Given the description of an element on the screen output the (x, y) to click on. 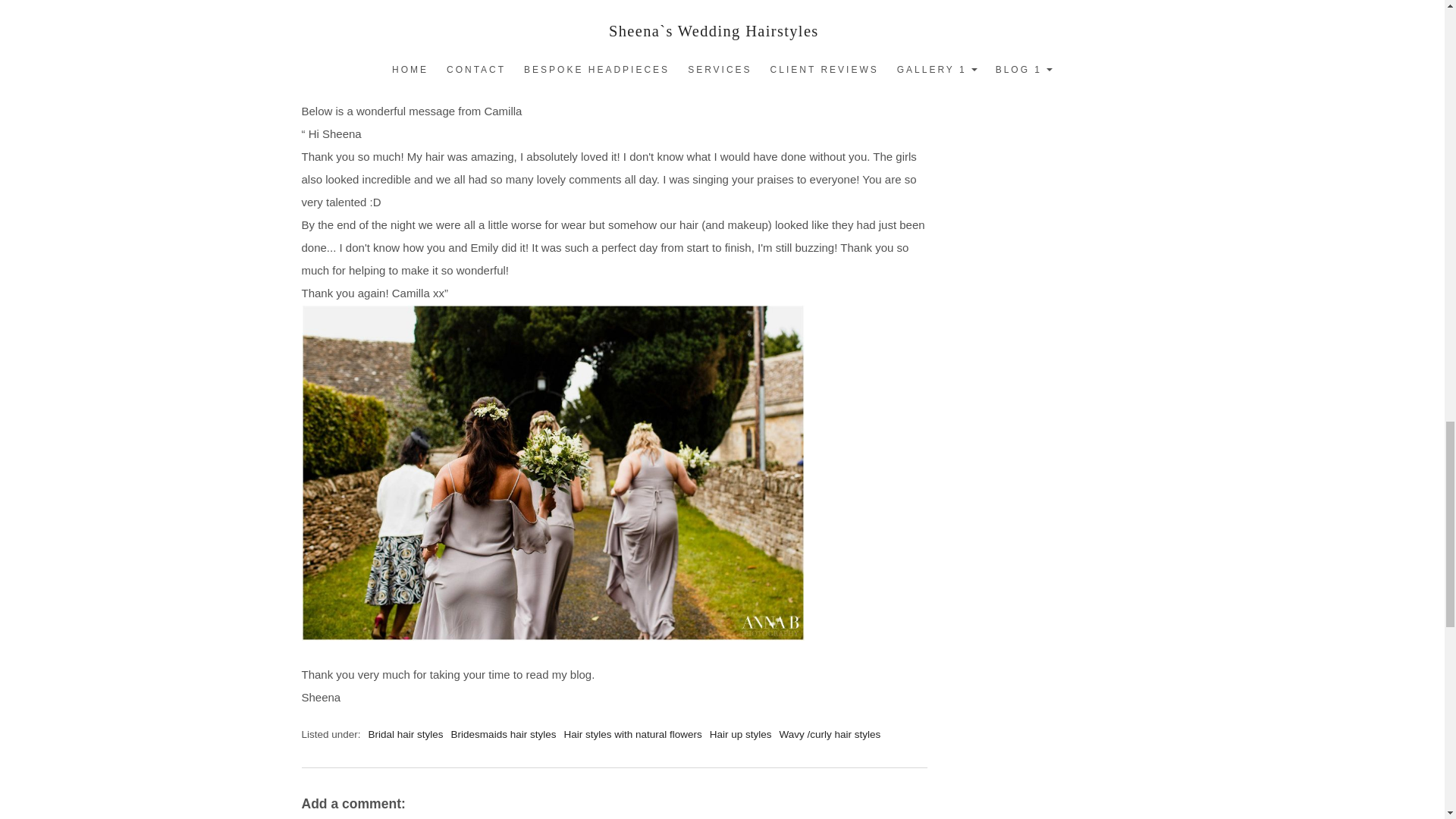
Hair styles with natural flowers (632, 734)
Bridal hair styles (406, 734)
Hair up styles (740, 734)
Bridesmaids hair styles (503, 734)
Wedding-Hair-stylist-Gloucestershire-UK-2018-KML 1.0 (556, 49)
